Given the description of an element on the screen output the (x, y) to click on. 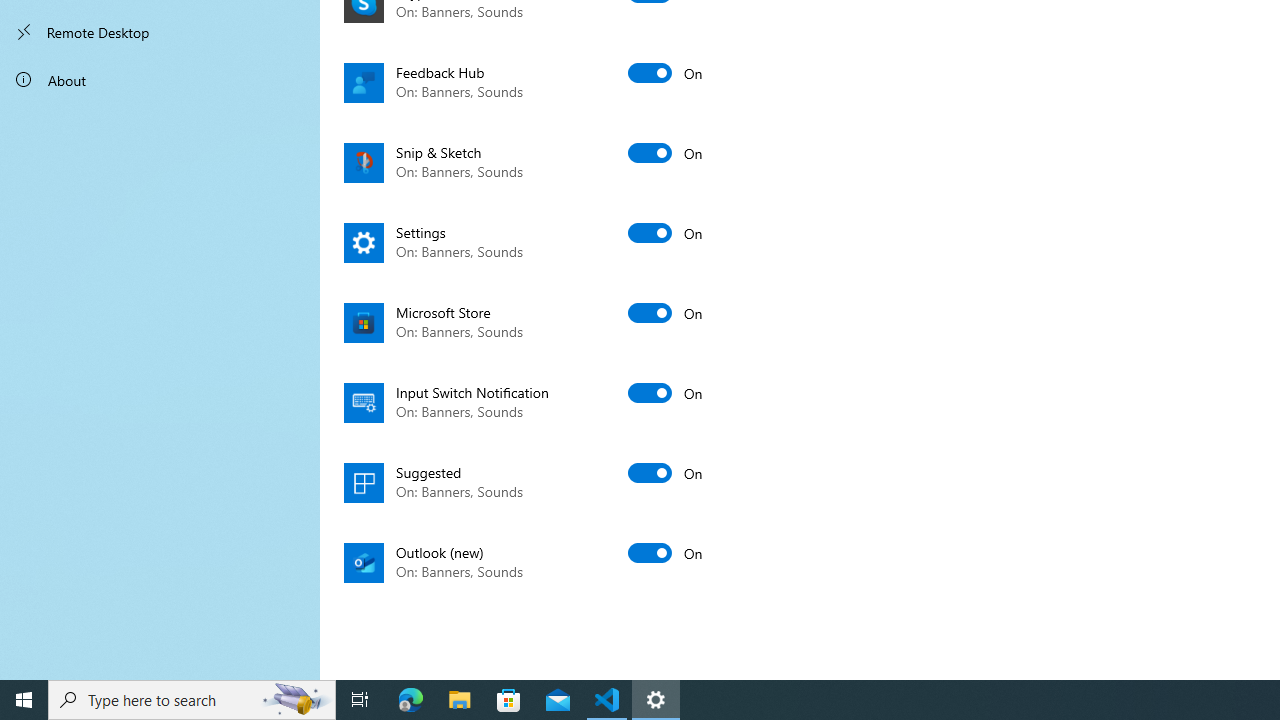
Suggested (561, 482)
Snip & Sketch (561, 162)
Remote Desktop (160, 31)
Input Switch Notification (561, 402)
About (160, 79)
Search highlights icon opens search home window (295, 699)
Task View (359, 699)
Feedback Hub (561, 83)
Visual Studio Code - 1 running window (607, 699)
Microsoft Store (561, 322)
Settings (561, 242)
Type here to search (191, 699)
Settings - 1 running window (656, 699)
Outlook (new) (561, 562)
